Given the description of an element on the screen output the (x, y) to click on. 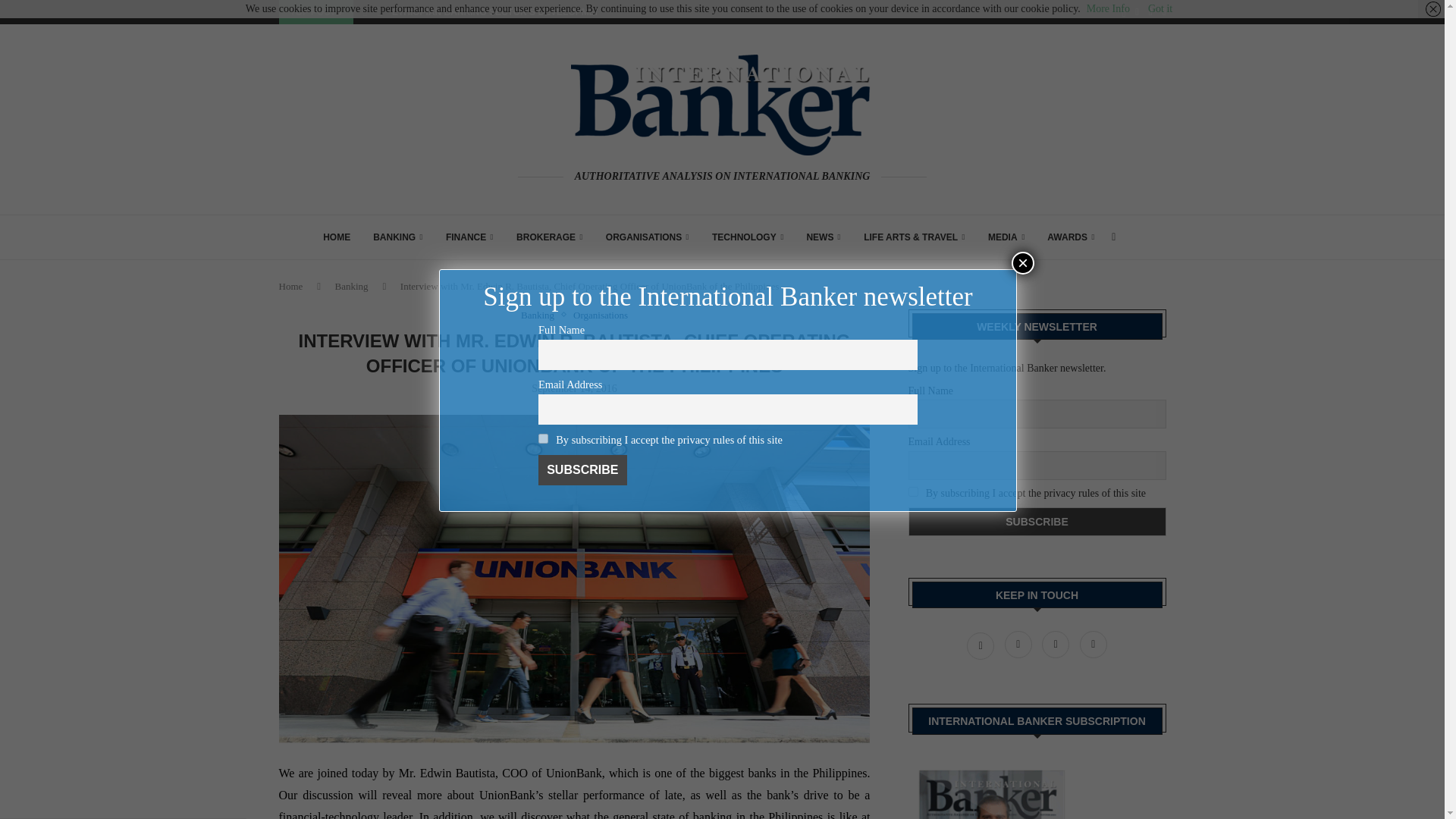
BANKING (397, 237)
ORGANISATIONS (646, 237)
AWARDS (1070, 237)
Organisations (600, 315)
TECHNOLOGY (747, 237)
Subscribe (1037, 521)
on (913, 491)
Home (290, 285)
Banking (351, 285)
Banking (541, 315)
Subscribe (582, 470)
on (543, 438)
FINANCE (469, 237)
BROKERAGE (549, 237)
